Given the description of an element on the screen output the (x, y) to click on. 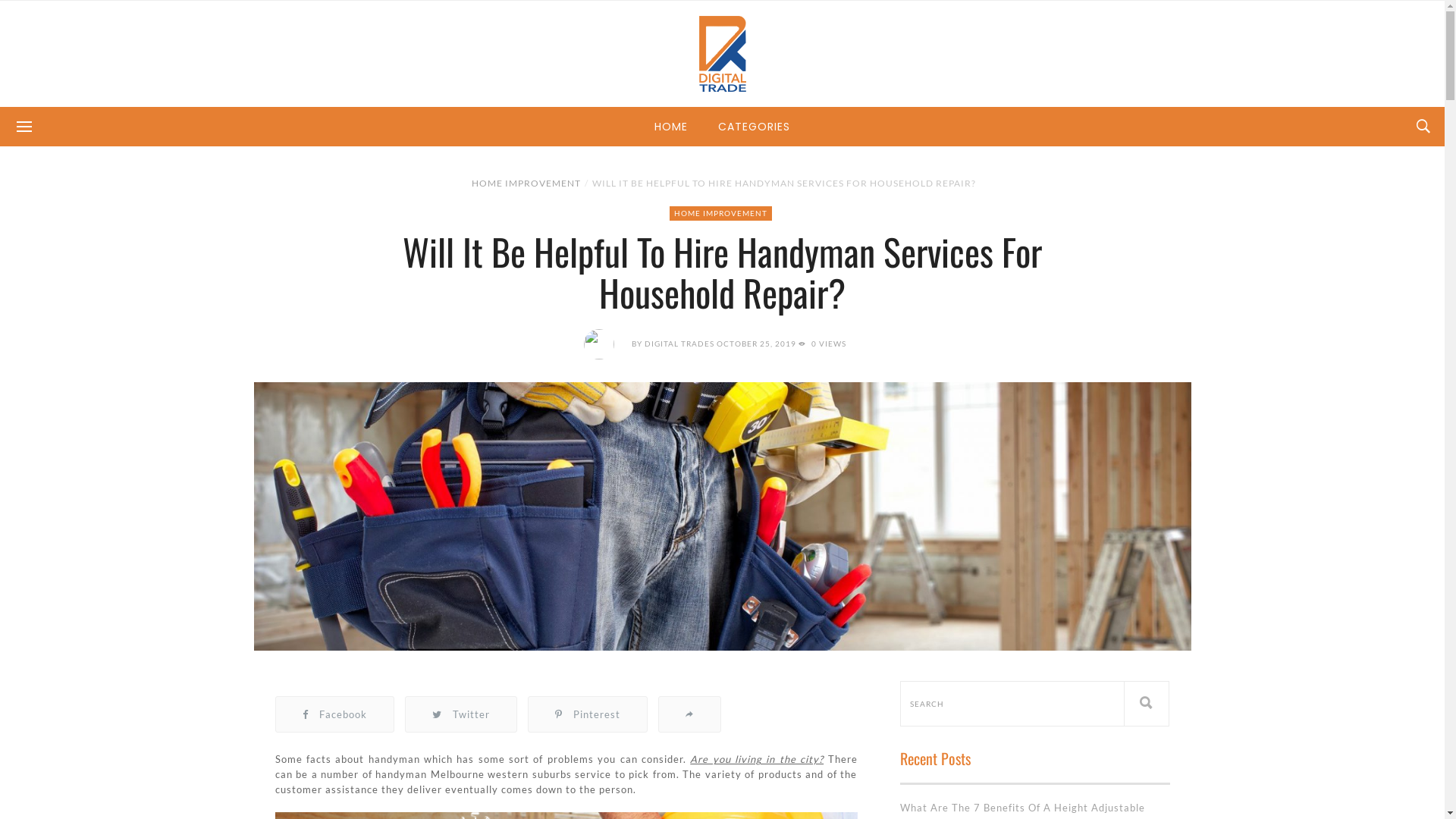
HOME IMPROVEMENT Element type: text (720, 213)
HOME IMPROVEMENT Element type: text (525, 182)
Twitter Element type: text (459, 713)
Facebook Element type: text (334, 713)
DIGITAL TRADES Element type: text (679, 343)
HOME Element type: text (670, 126)
Search Element type: text (1146, 703)
Pinterest Element type: text (586, 713)
search Element type: hover (1011, 703)
CATEGORIES Element type: text (753, 126)
